Given the description of an element on the screen output the (x, y) to click on. 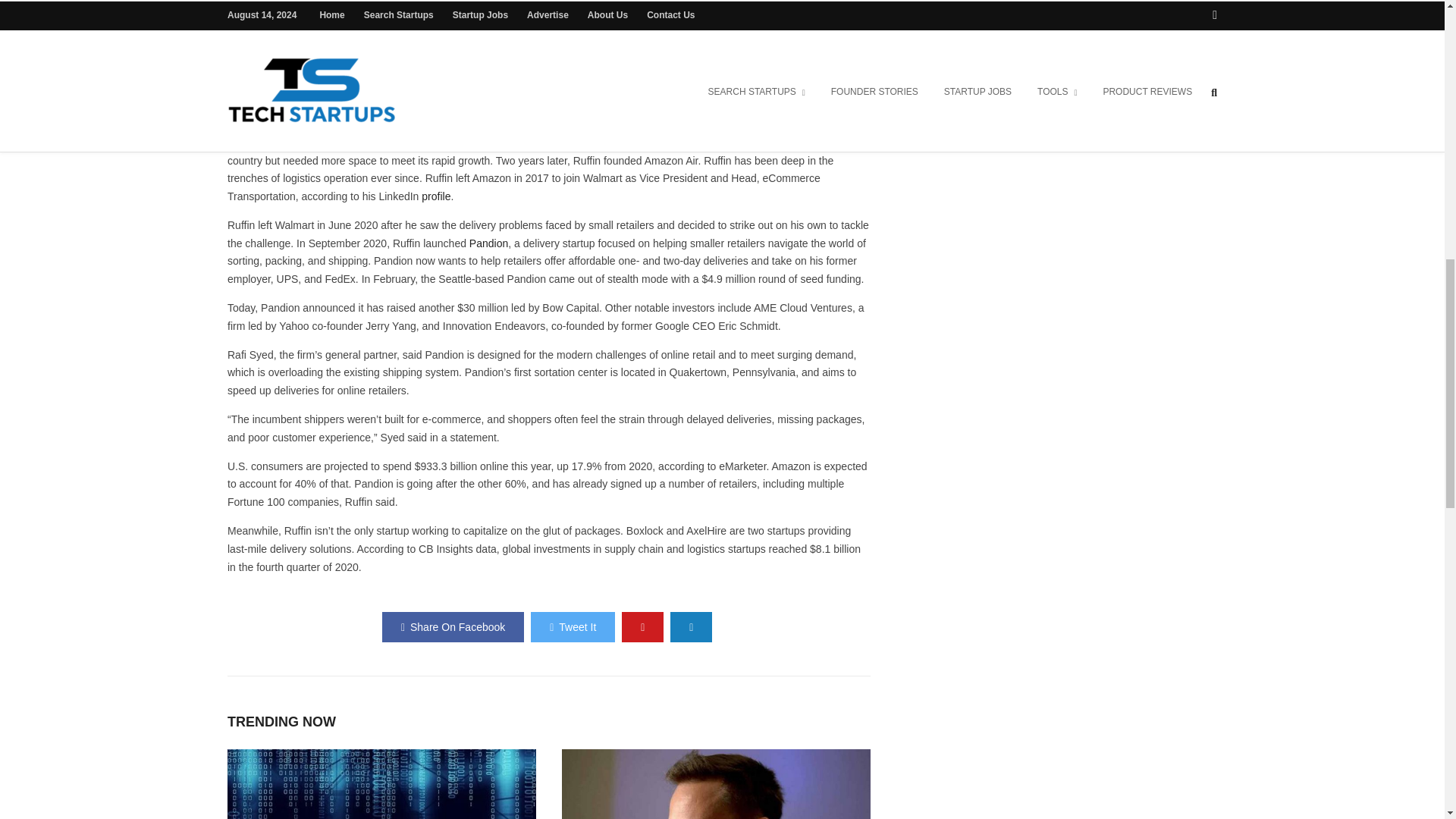
profile (435, 196)
Share On Pinterest (642, 626)
Share On Facebook (452, 626)
Share On Twitter (572, 626)
Share On Facebook (452, 626)
Share by Email (690, 626)
Tweet It (572, 626)
Pandion (488, 243)
